Given the description of an element on the screen output the (x, y) to click on. 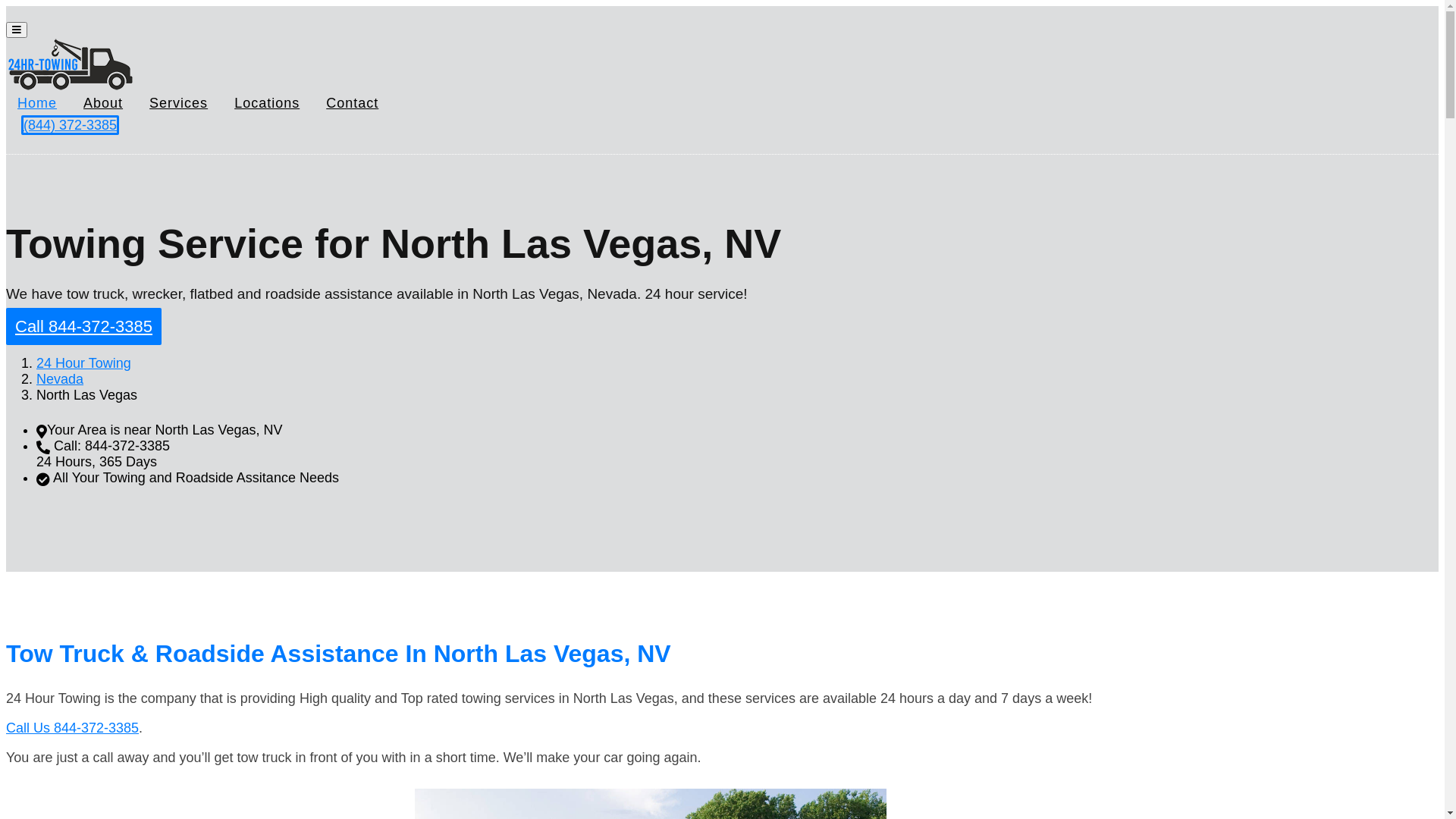
Call 844-372-3385 Element type: text (83, 326)
Call Us 844-372-3385 Element type: text (72, 727)
Services Element type: text (178, 103)
About Element type: text (103, 103)
Home Element type: text (37, 103)
(844) 372-3385 Element type: text (70, 124)
24 Hour Towing Element type: text (83, 362)
Locations Element type: text (266, 103)
Nevada Element type: text (59, 378)
Contact Element type: text (351, 103)
